Given the description of an element on the screen output the (x, y) to click on. 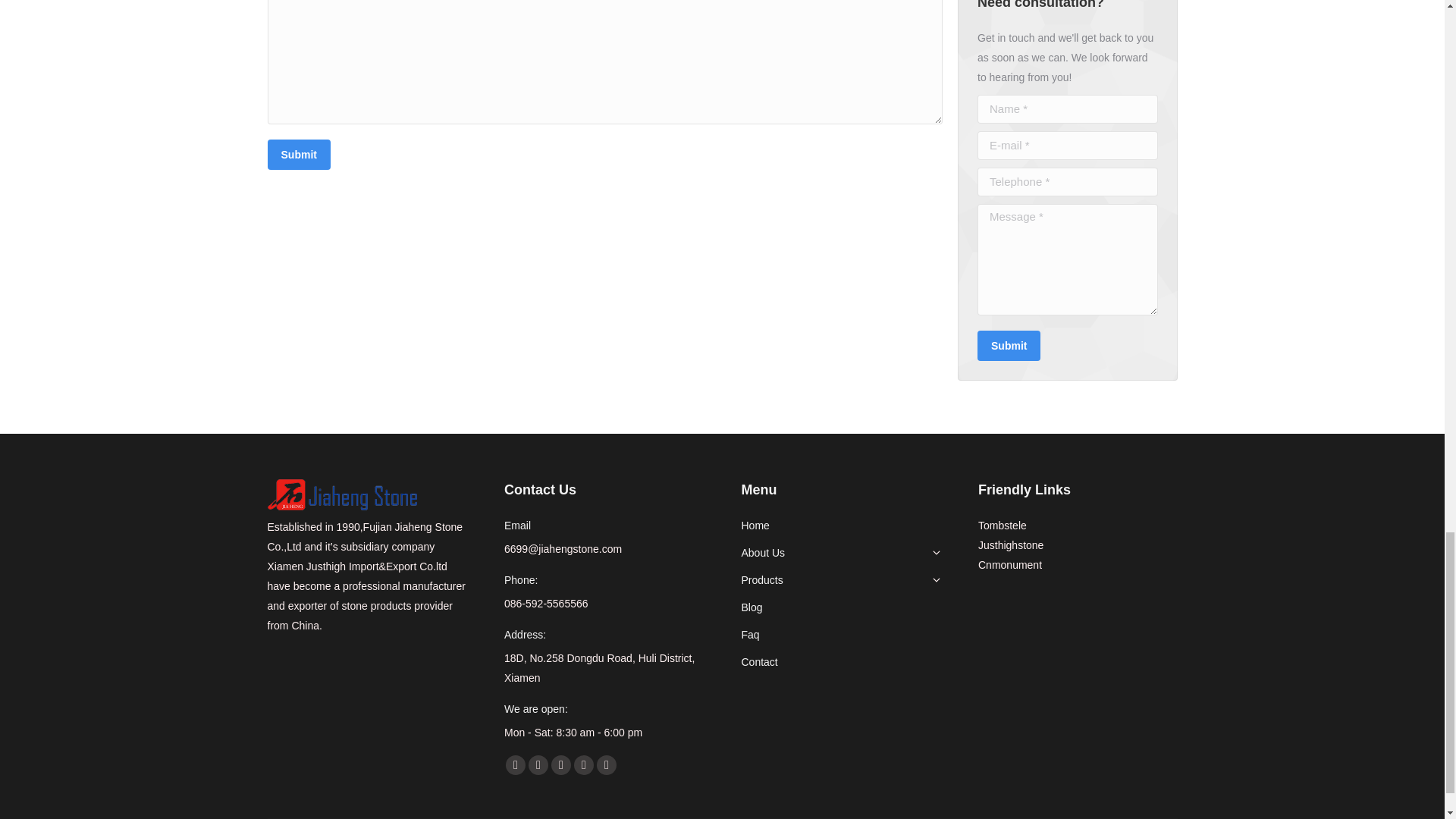
YouTube page opens in new window (538, 764)
Facebook page opens in new window (515, 764)
submit (1080, 346)
Mail page opens in new window (605, 764)
Pinterest page opens in new window (560, 764)
Submit (298, 154)
Instagram page opens in new window (583, 764)
